Given the description of an element on the screen output the (x, y) to click on. 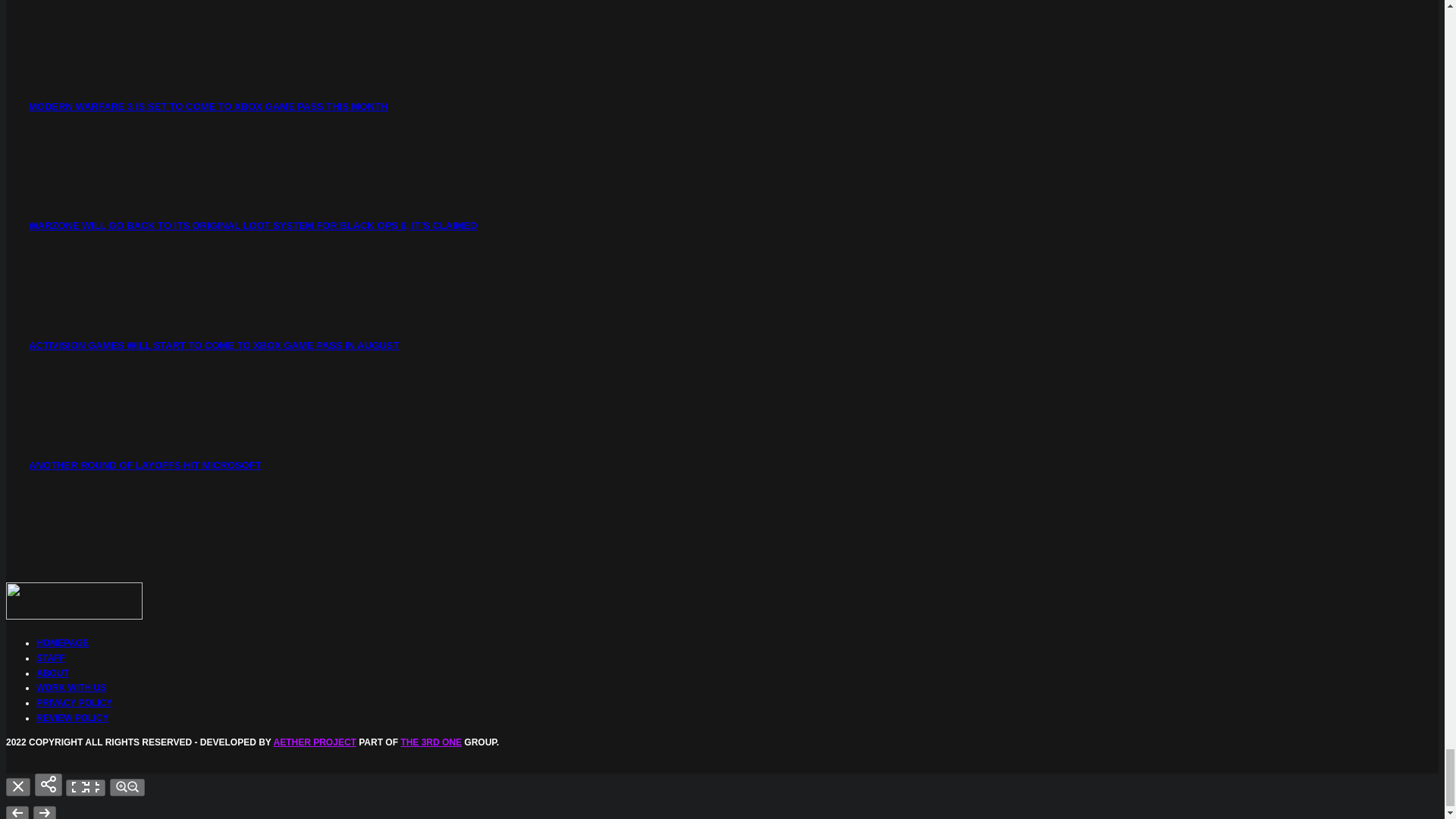
Close (17, 787)
Toggle fullscreen (84, 787)
Share (48, 784)
